Given the description of an element on the screen output the (x, y) to click on. 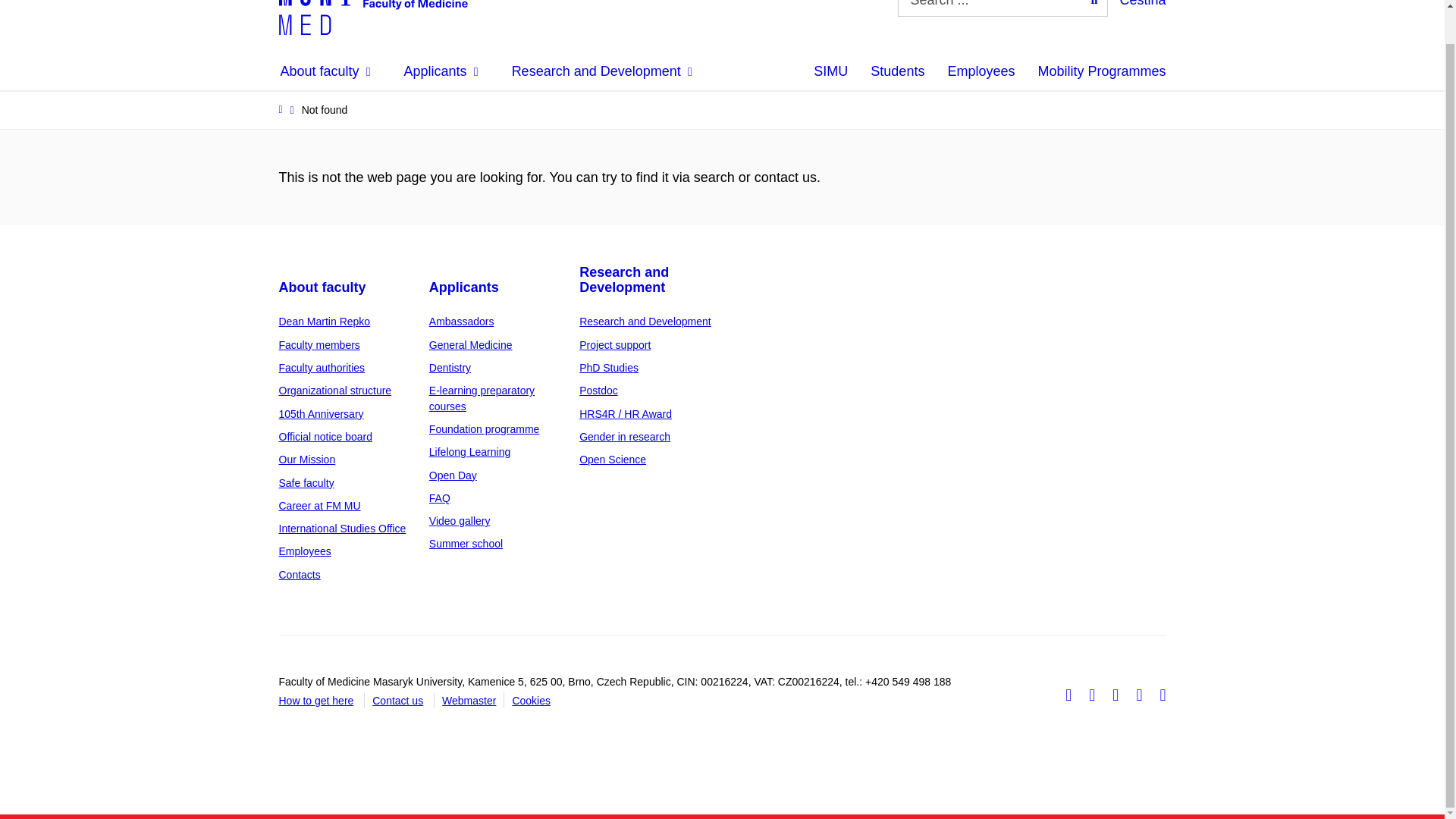
Homepage site (373, 17)
Masaryk University Faculty of Medicine (373, 17)
Search ... (1093, 2)
About faculty (307, 459)
About faculty (321, 413)
About faculty (306, 482)
Applicants (462, 321)
About faculty (342, 528)
Applicants (464, 287)
Applicants (470, 345)
About faculty (322, 287)
About faculty (305, 551)
About faculty (335, 390)
Research and Development (602, 71)
Applicants (441, 71)
